Given the description of an element on the screen output the (x, y) to click on. 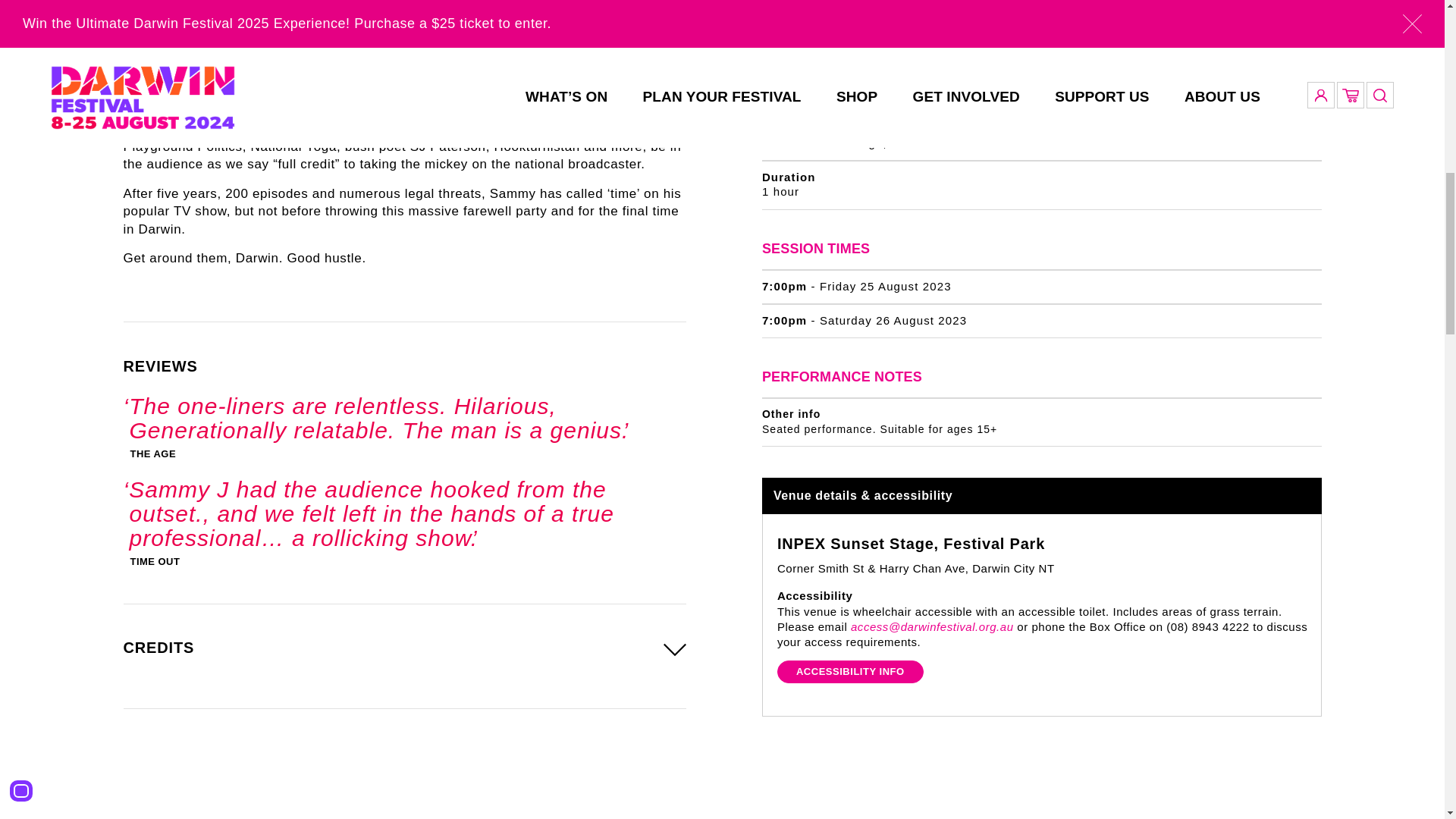
i (1314, 136)
